Given the description of an element on the screen output the (x, y) to click on. 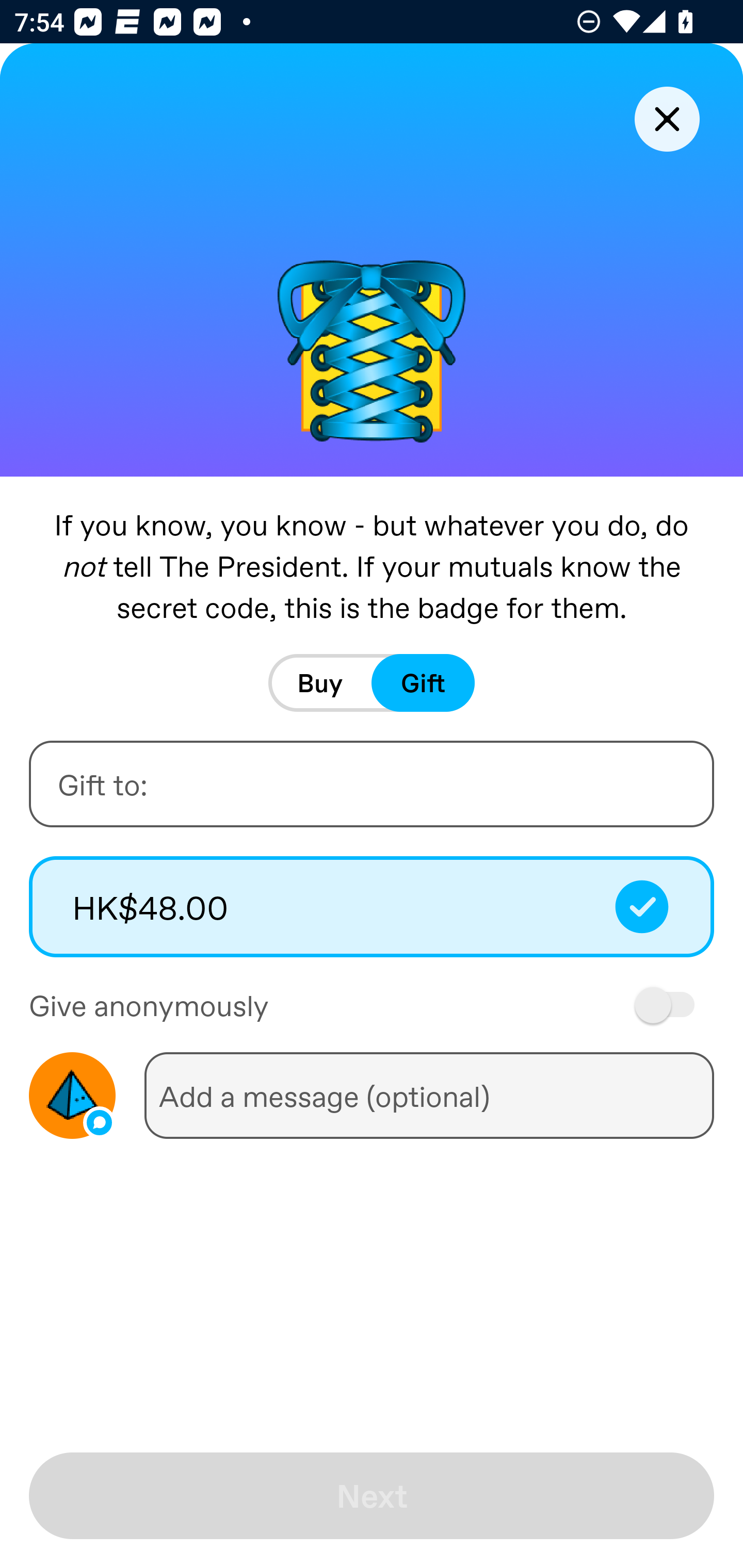
Buy (319, 682)
Gift (423, 682)
Gift to: (371, 783)
Add a message (optional) (429, 1095)
Next (371, 1495)
